Given the description of an element on the screen output the (x, y) to click on. 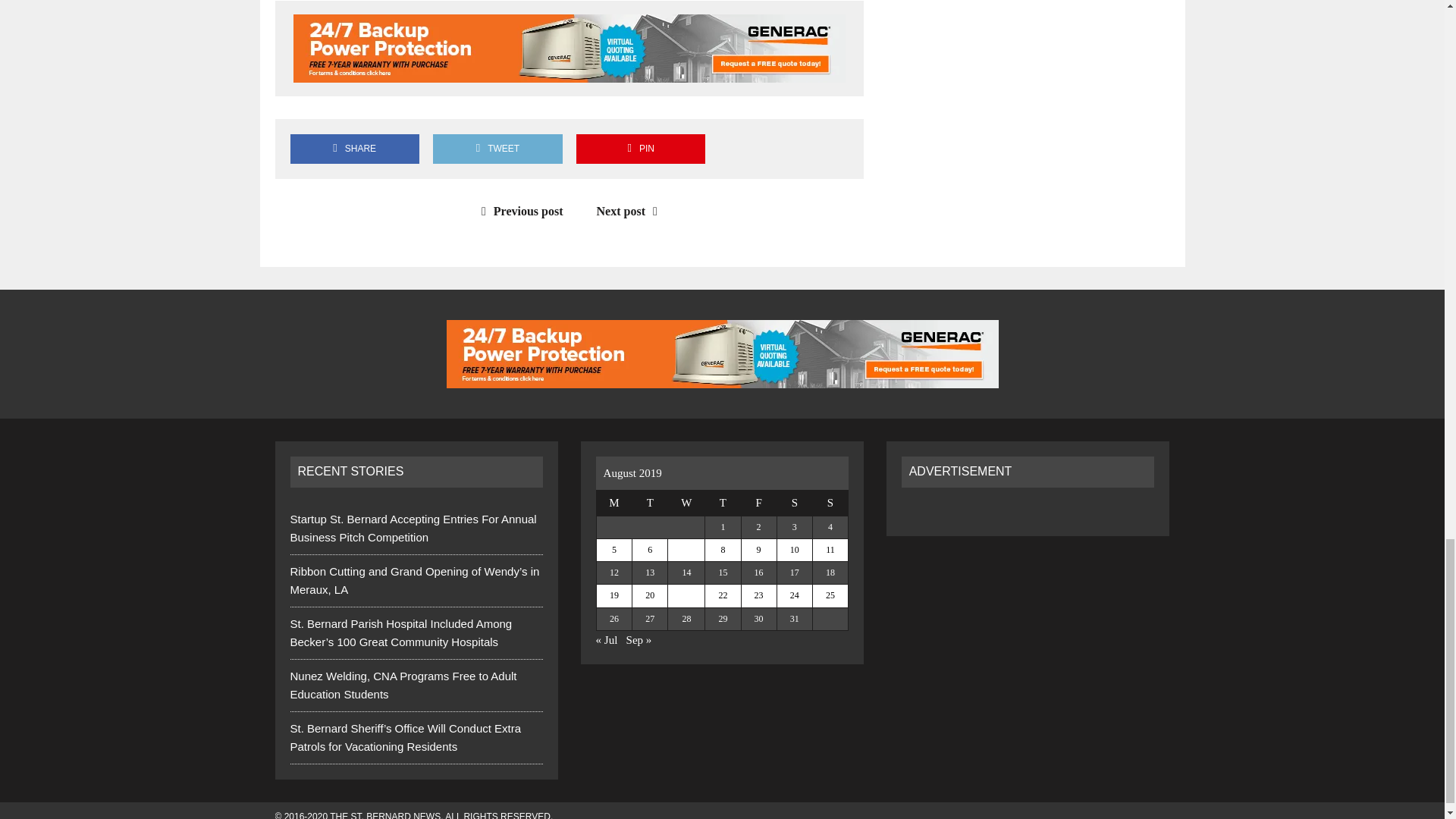
Tweet This Post (497, 148)
Pin This Post (640, 148)
Share on Facebook (354, 148)
